Given the description of an element on the screen output the (x, y) to click on. 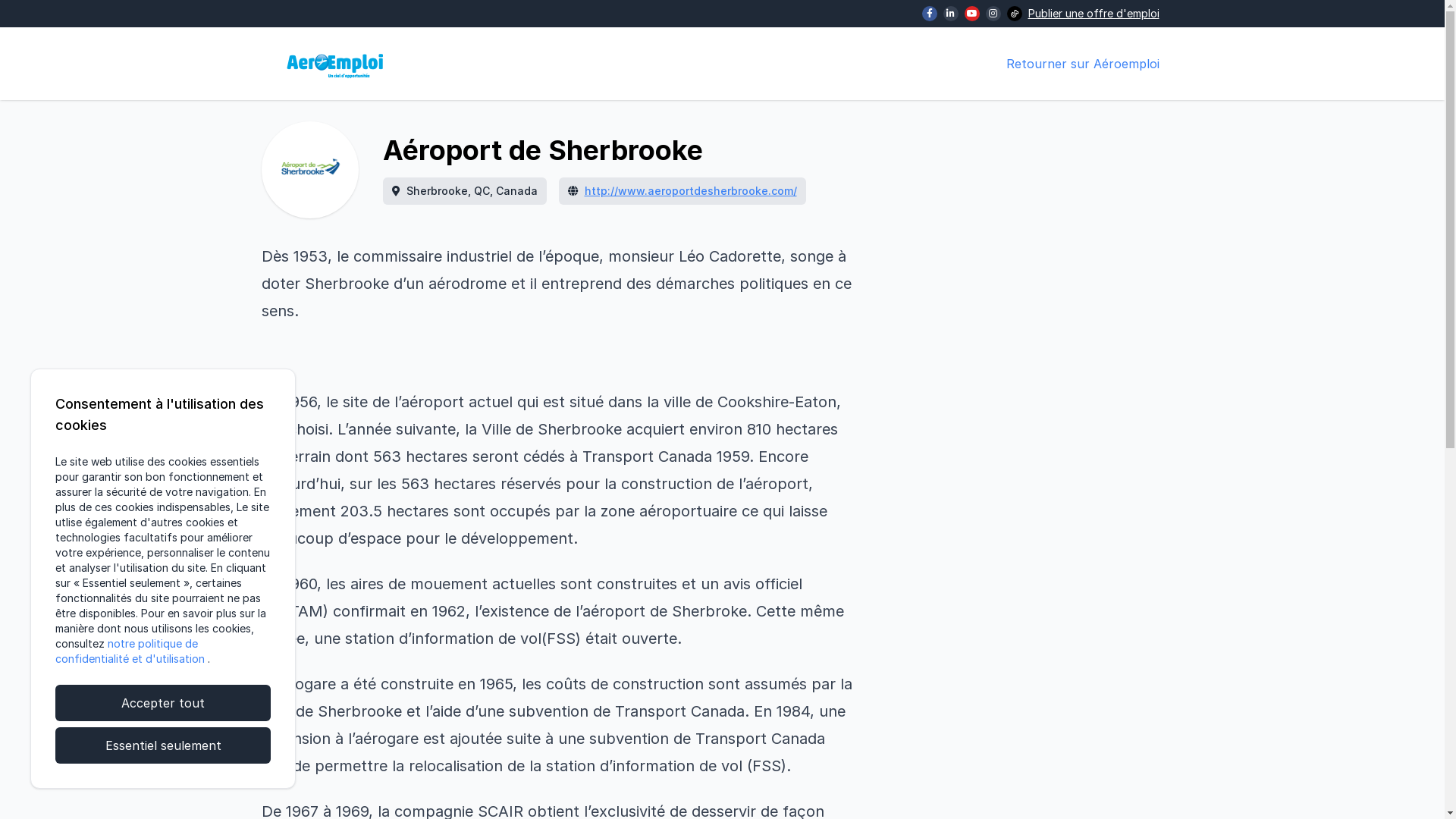
Accepter tout Element type: text (162, 702)
Publier une offre d'emploi Element type: text (1093, 13)
http://www.aeroportdesherbrooke.com/ Element type: text (689, 190)
Essentiel seulement Element type: text (162, 745)
